Given the description of an element on the screen output the (x, y) to click on. 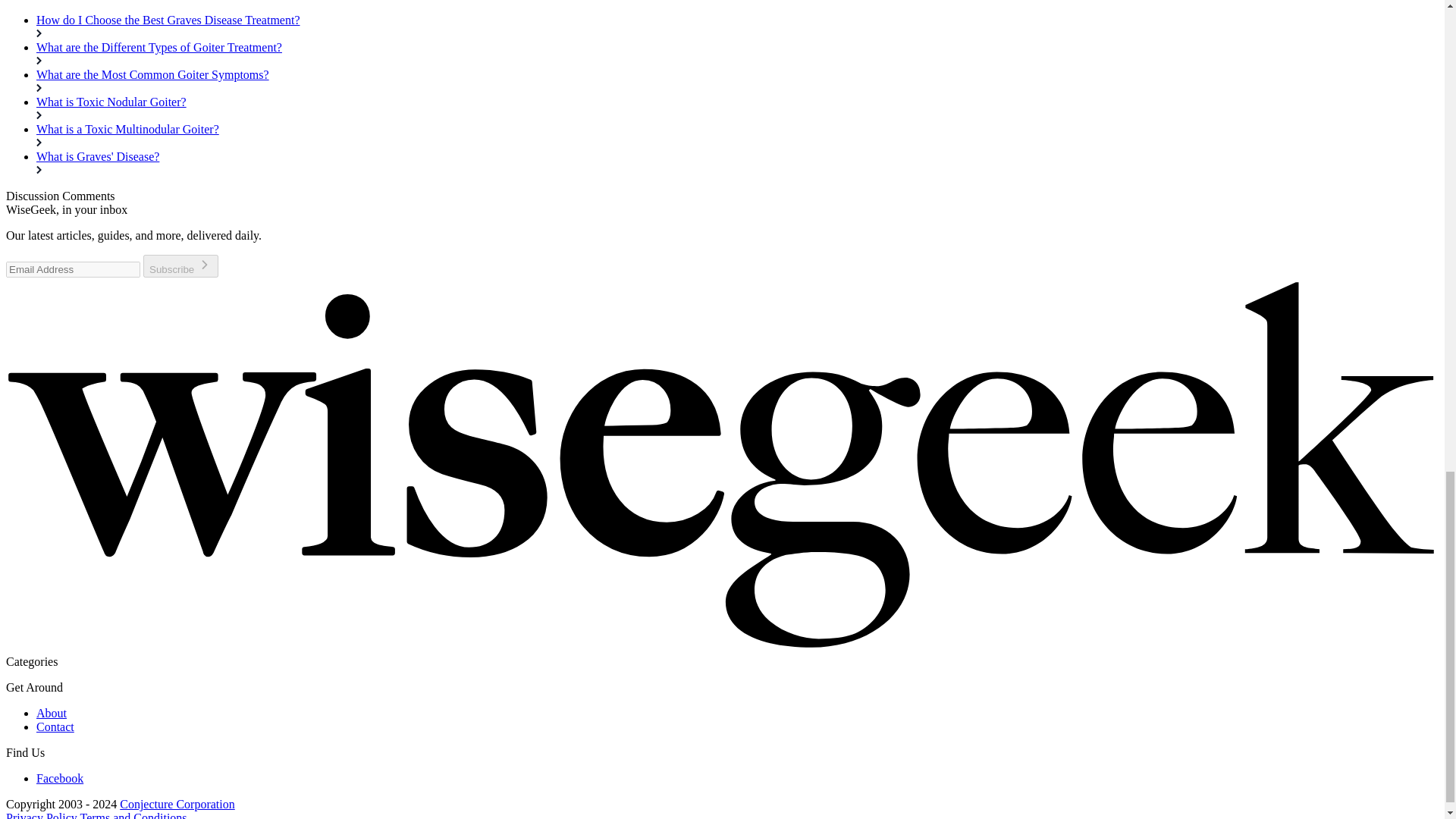
About (51, 712)
Conjecture Corporation (176, 803)
Facebook (59, 778)
Subscribe (180, 265)
Contact (55, 726)
